Given the description of an element on the screen output the (x, y) to click on. 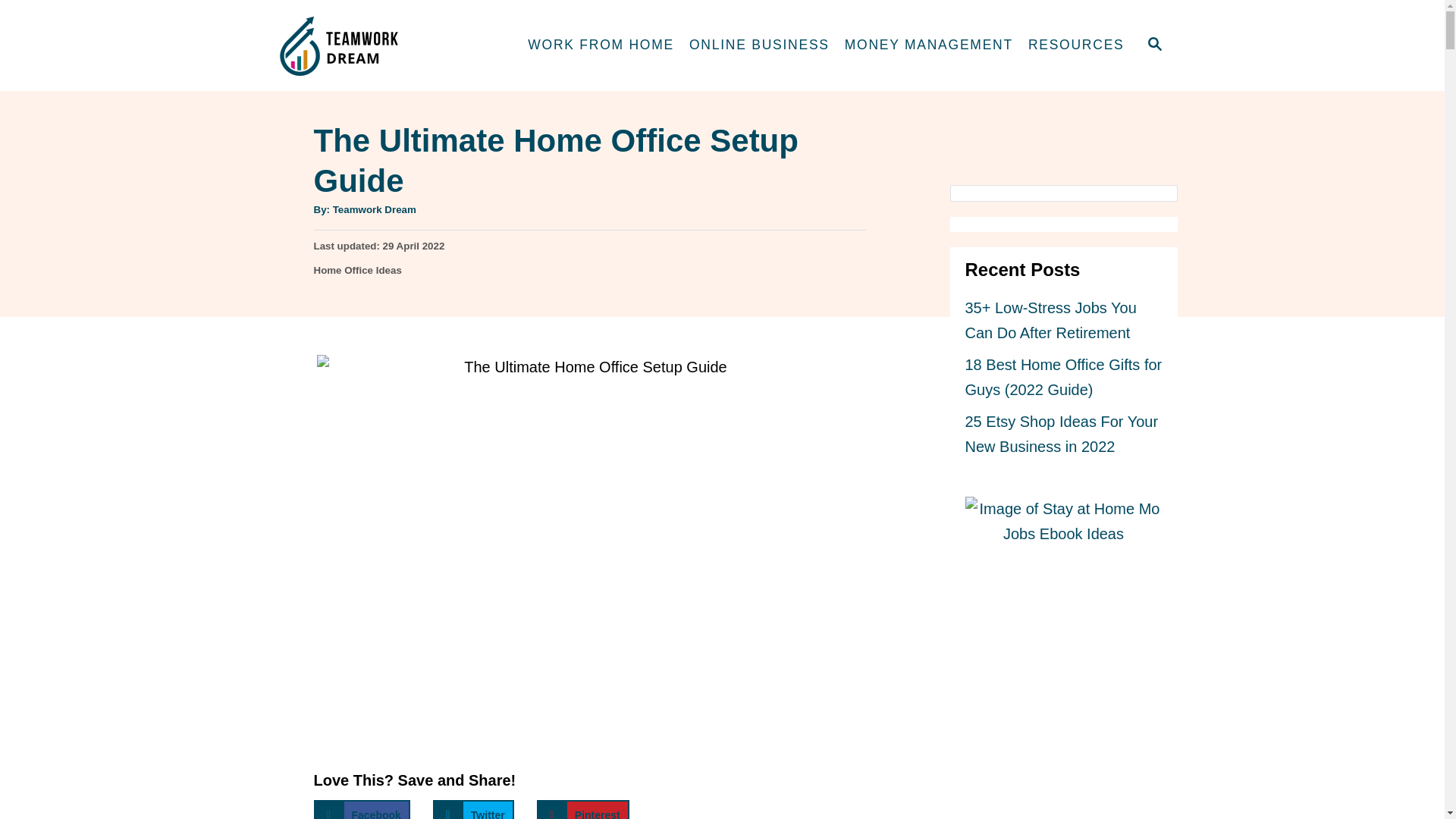
ONLINE BUSINESS (759, 45)
RESOURCES (1076, 45)
MONEY MANAGEMENT (928, 45)
WORK FROM HOME (600, 45)
Twitter (472, 809)
Pinterest (582, 809)
Home Office Ideas (1153, 45)
Facebook (357, 270)
Teamwork Dream (362, 809)
